Given the description of an element on the screen output the (x, y) to click on. 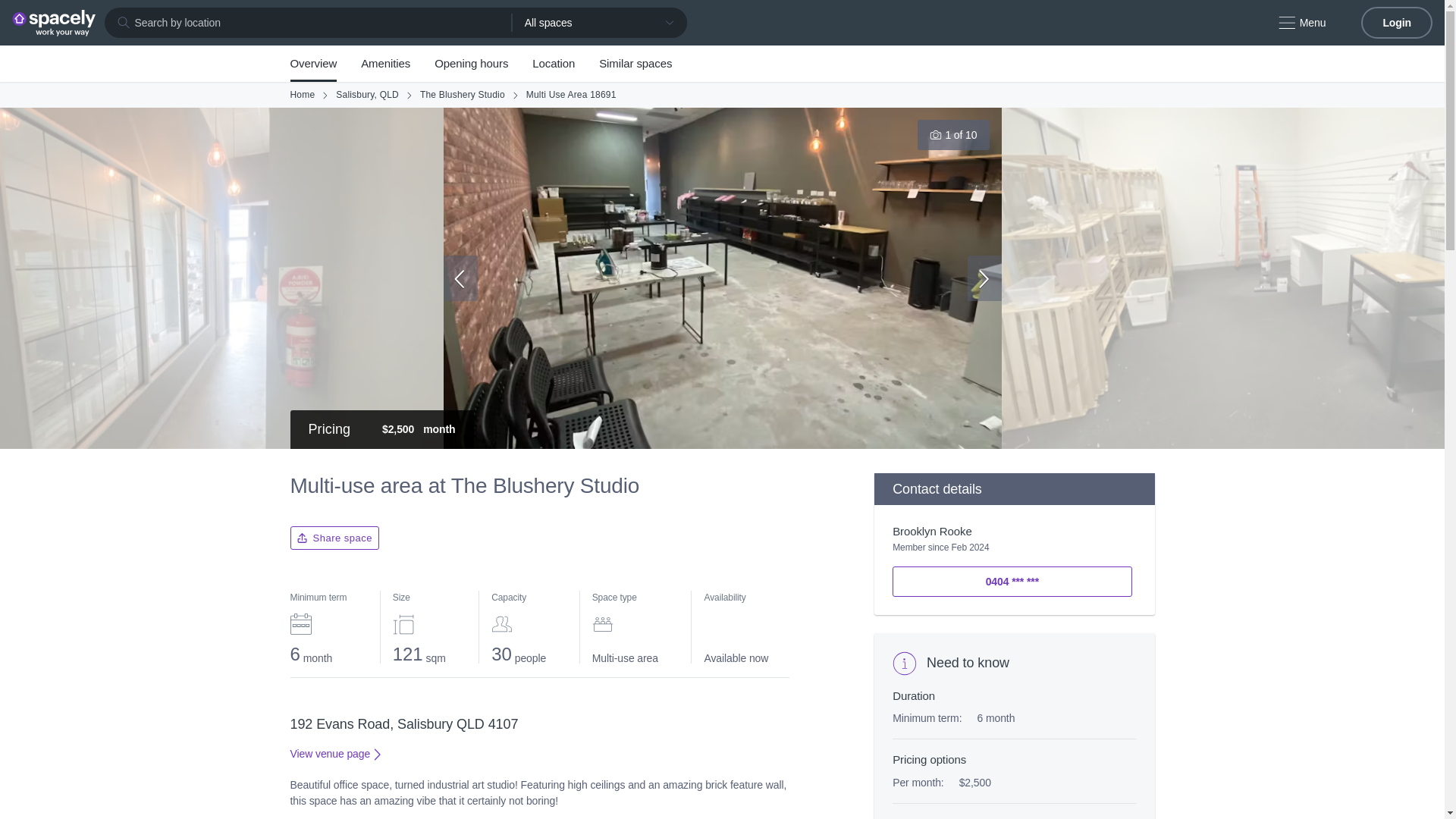
The Blushery Studio (462, 94)
Overview (312, 63)
Menu (1301, 22)
Location (553, 63)
Home (301, 94)
Home (301, 94)
Similar spaces (634, 63)
The Blushery Studio (462, 94)
Opening hours (470, 63)
Salisbury, QLD (367, 94)
Multi Use Area 18691 (570, 94)
Salisbury, QLD (367, 94)
month (438, 428)
